Given the description of an element on the screen output the (x, y) to click on. 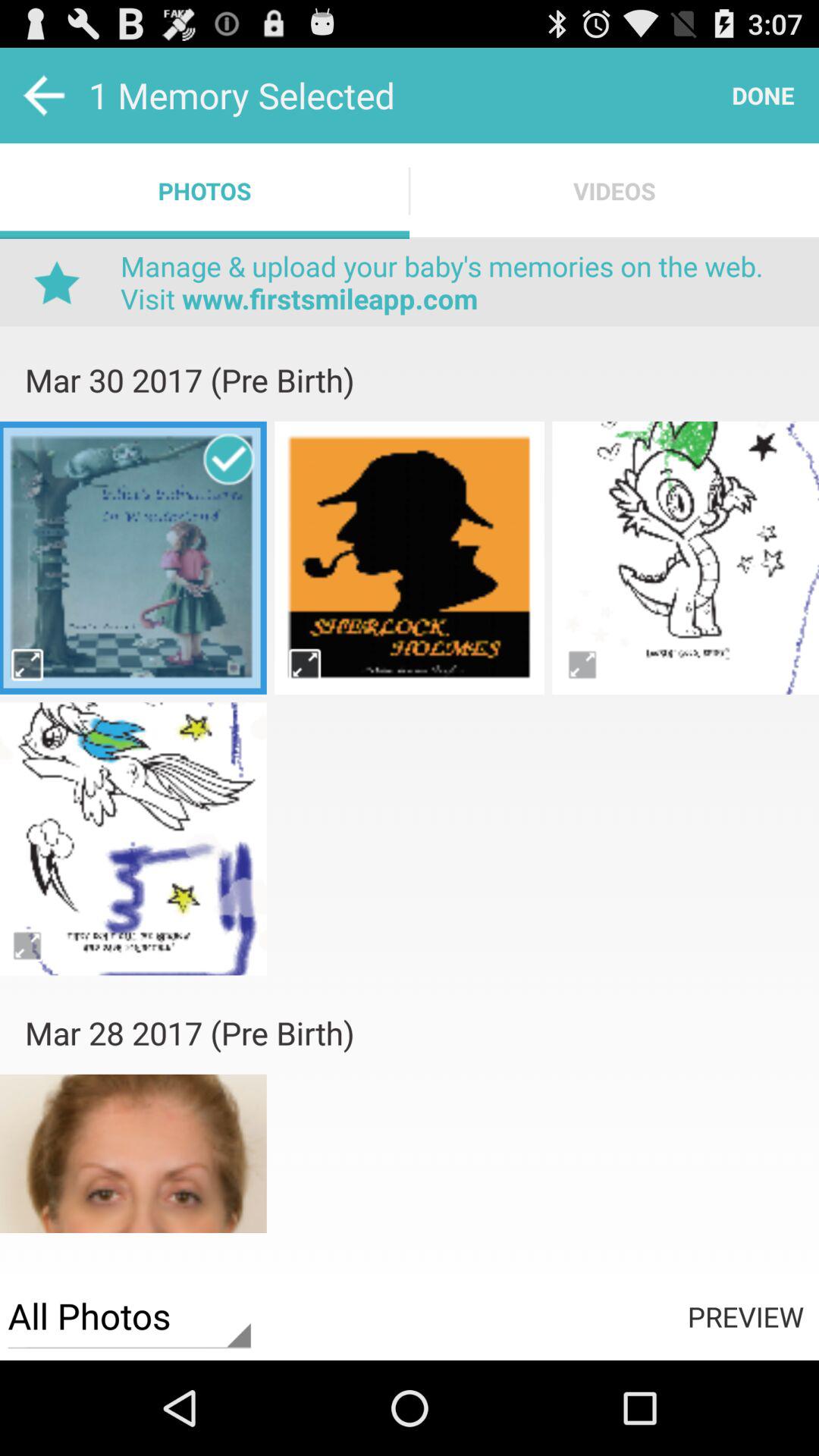
drawing (133, 838)
